Given the description of an element on the screen output the (x, y) to click on. 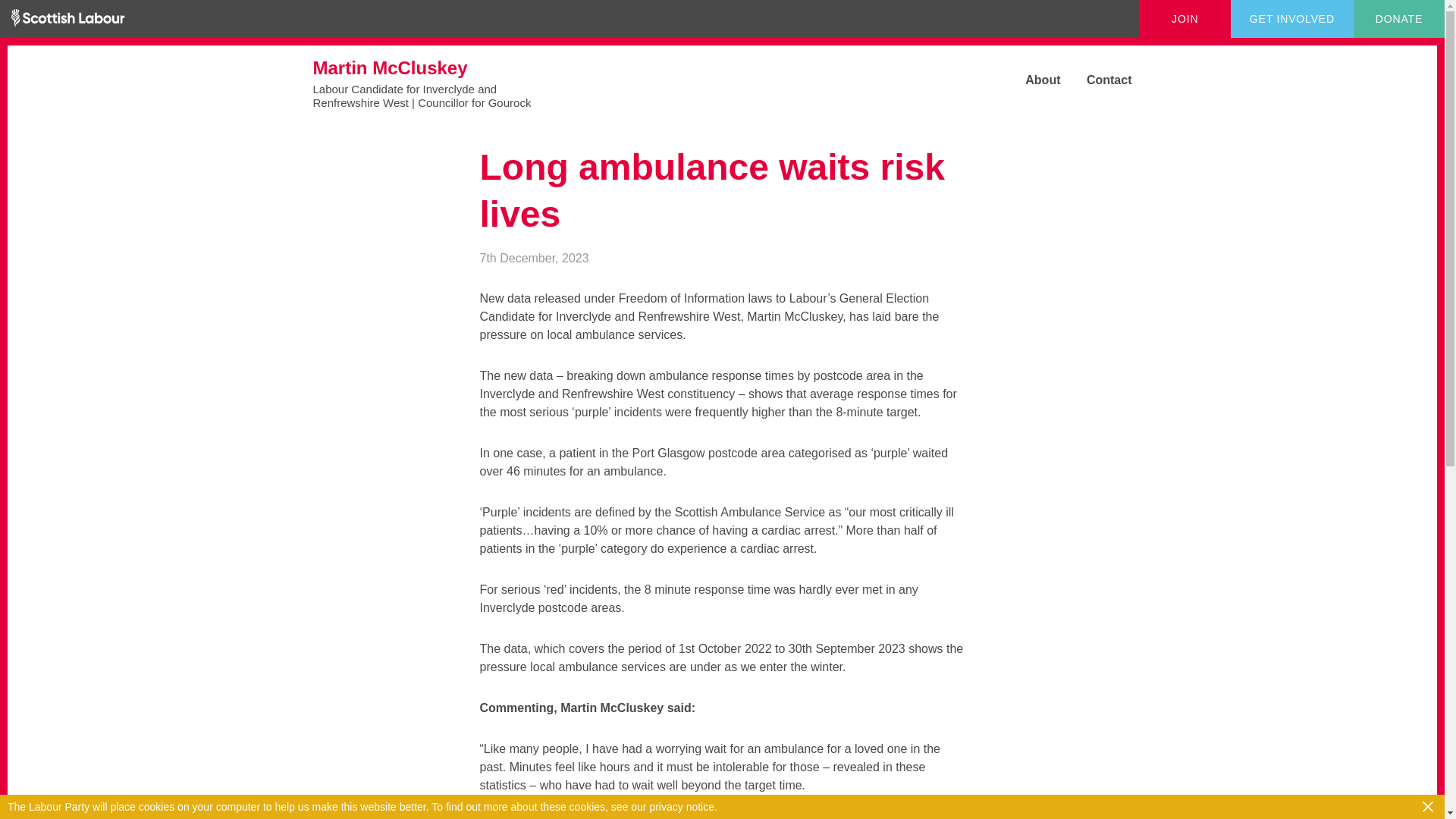
GET INVOLVED (1292, 18)
JOIN (1185, 18)
About (1031, 79)
Contact (1098, 79)
